Given the description of an element on the screen output the (x, y) to click on. 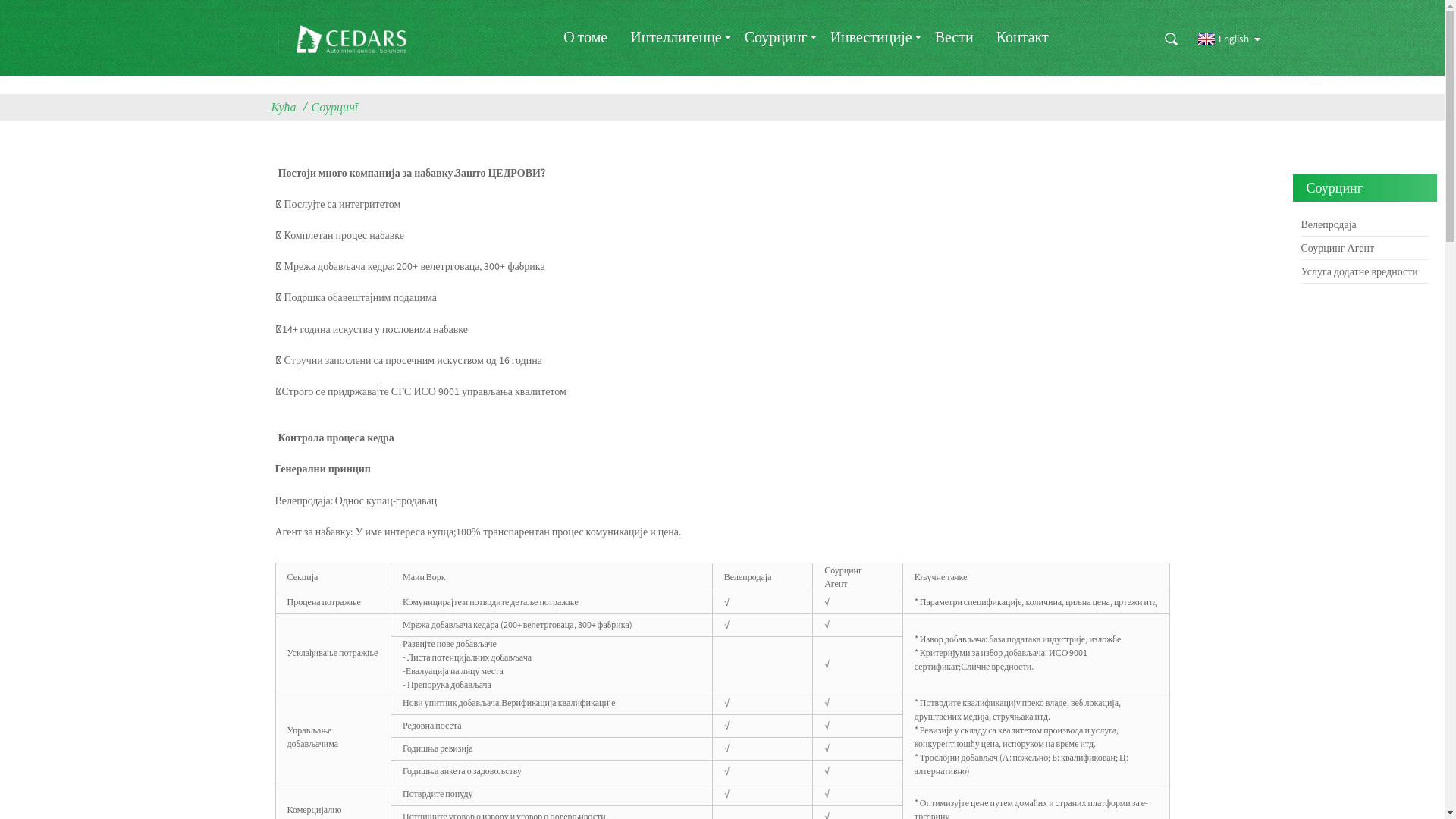
English Element type: text (1220, 39)
